Given the description of an element on the screen output the (x, y) to click on. 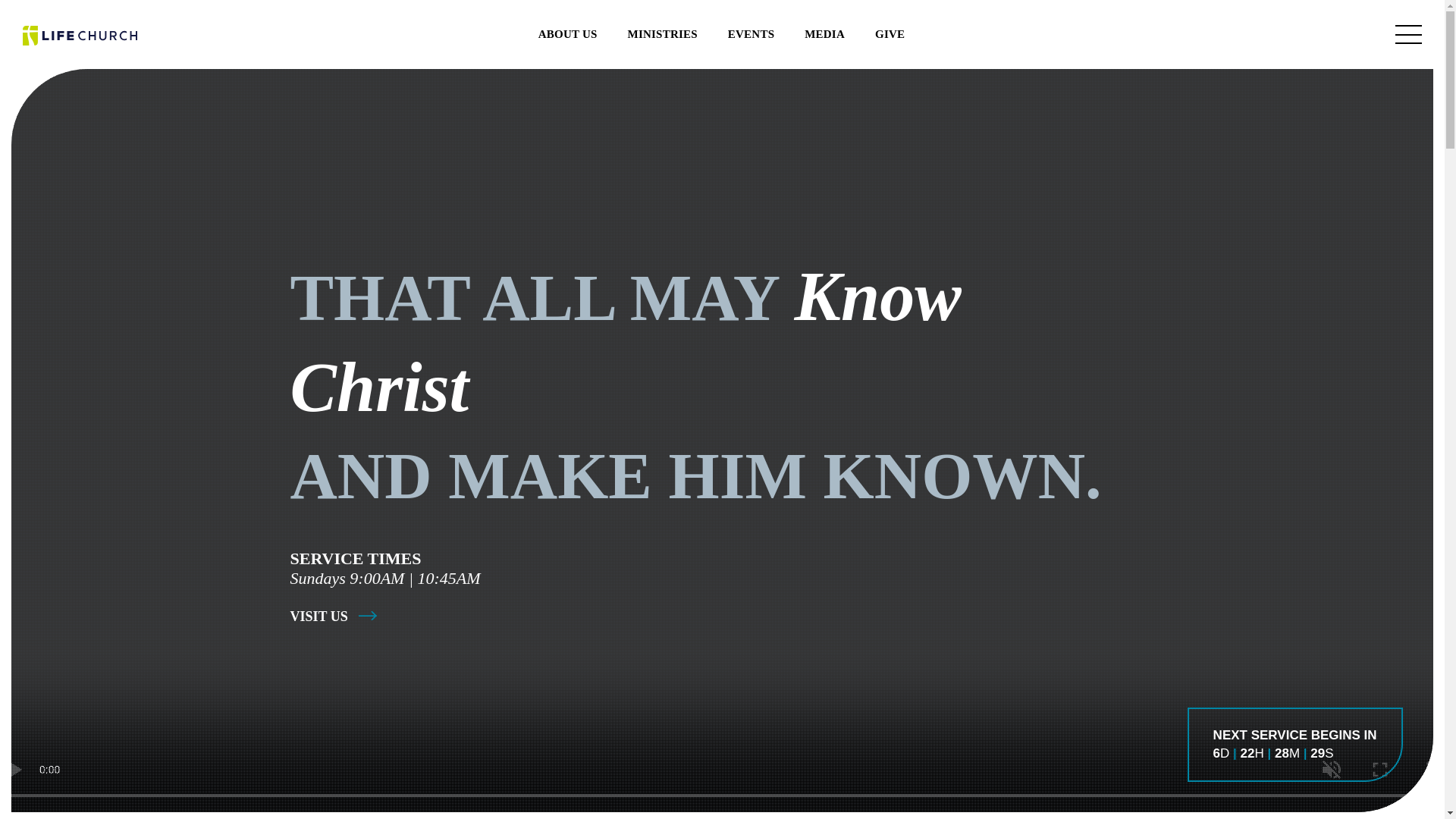
ABOUT US (567, 33)
MINISTRIES (662, 33)
